Given the description of an element on the screen output the (x, y) to click on. 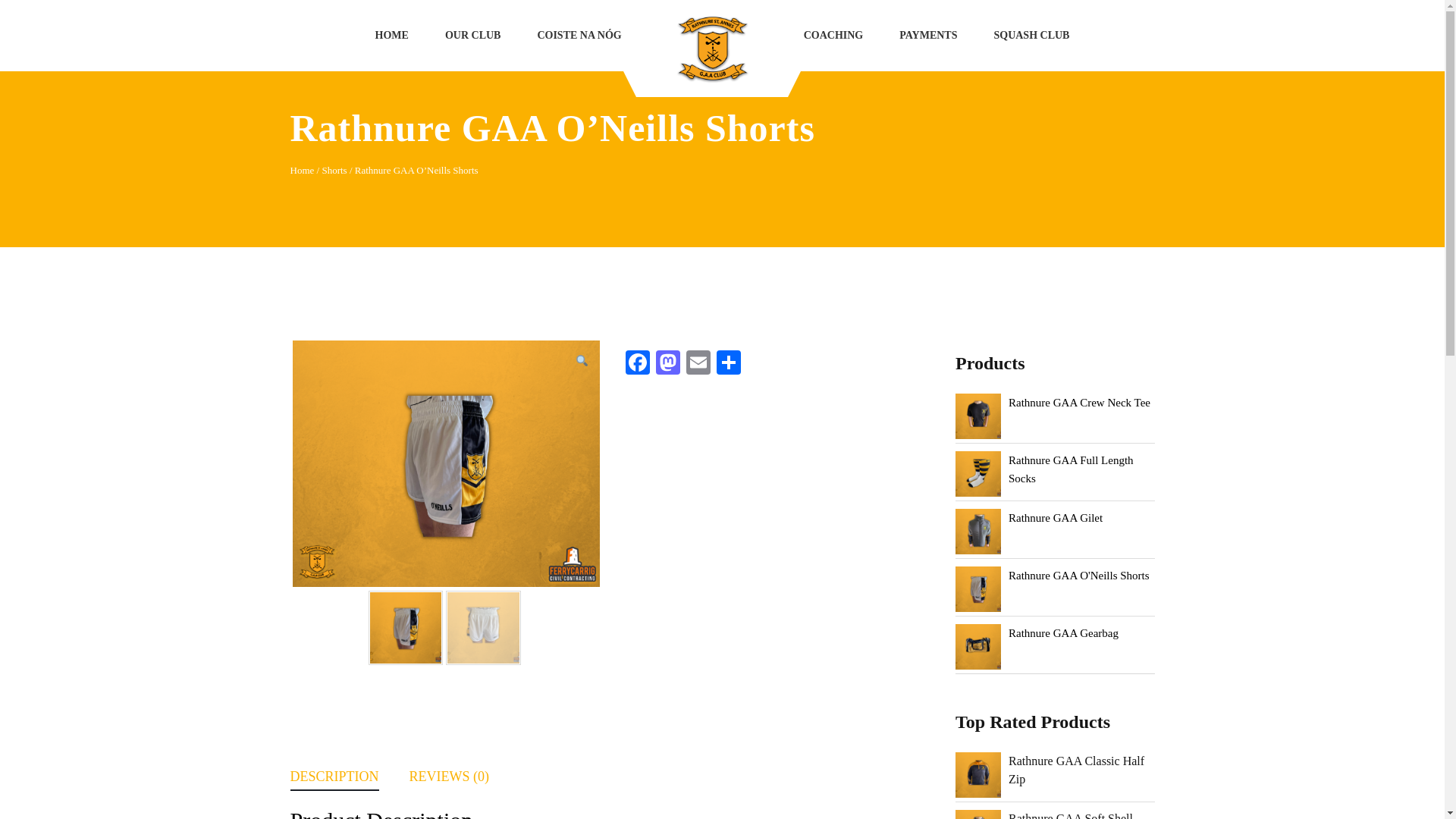
OUR CLUB (472, 35)
SQUASH CLUB (1031, 35)
PAYMENTS (927, 35)
Mastodon (667, 364)
Home (301, 170)
Email (697, 364)
Facebook (637, 364)
HOME (391, 35)
COACHING (834, 35)
Shorts (333, 170)
